Given the description of an element on the screen output the (x, y) to click on. 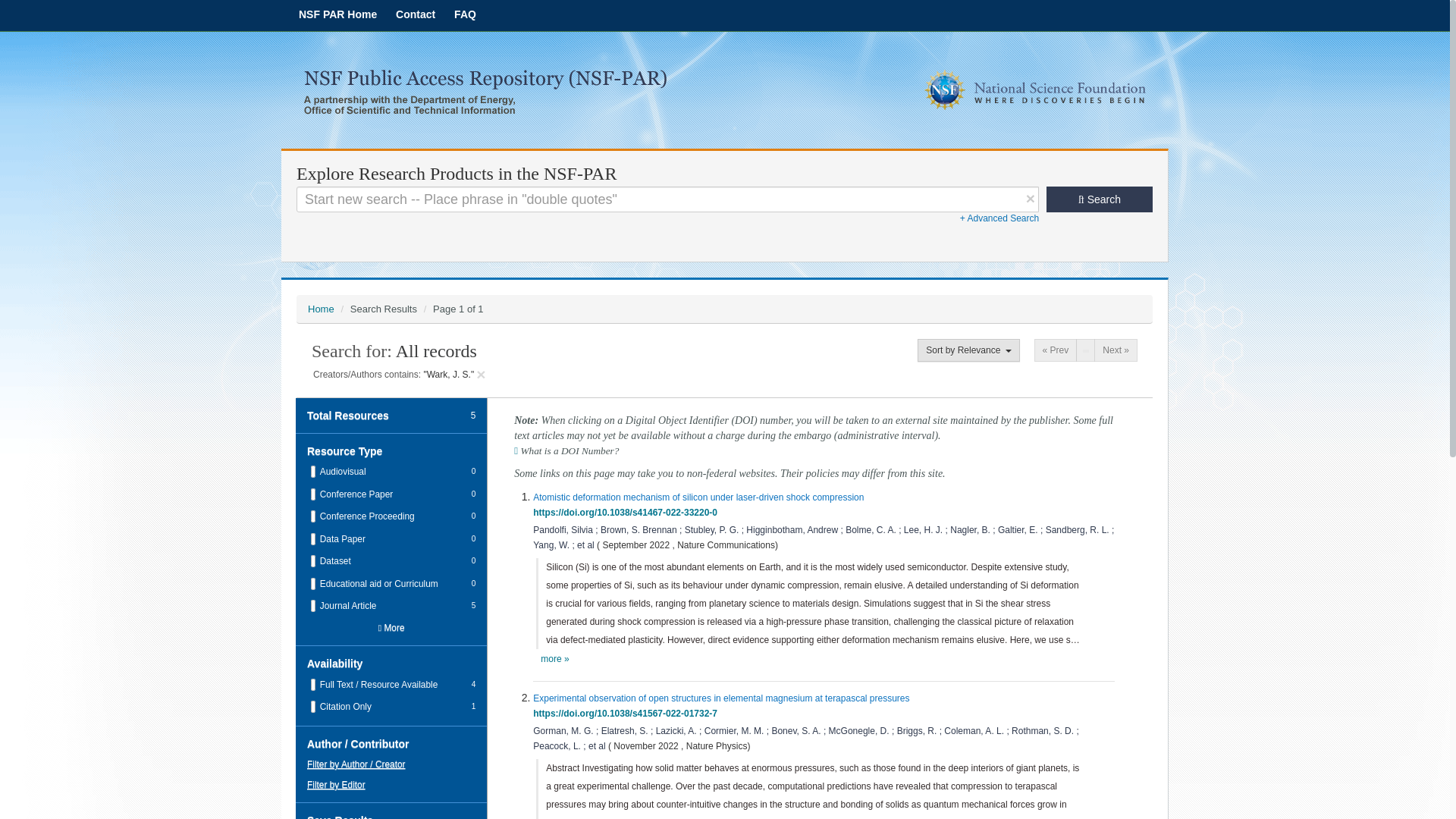
Contact (415, 14)
Sort by Relevance (968, 350)
NSF PAR Contact (415, 14)
NSF PAR FAQ (464, 14)
NSF PAR Home (337, 14)
FAQ (464, 14)
Search (1099, 199)
More (390, 627)
Home (320, 308)
NSF PAR Home (337, 14)
